Given the description of an element on the screen output the (x, y) to click on. 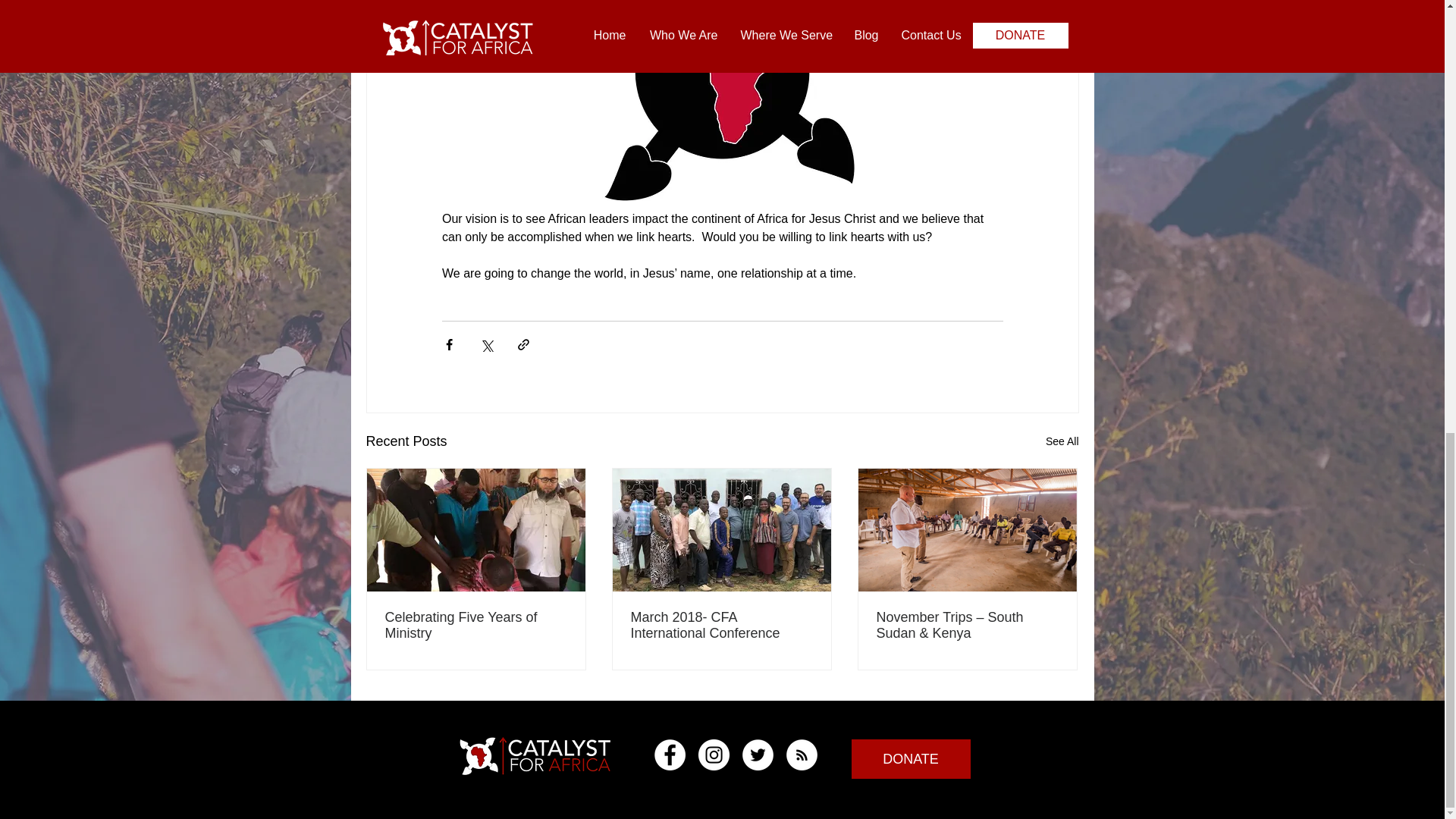
Celebrating Five Years of Ministry (476, 625)
March 2018- CFA International Conference (721, 625)
See All (1061, 441)
